Given the description of an element on the screen output the (x, y) to click on. 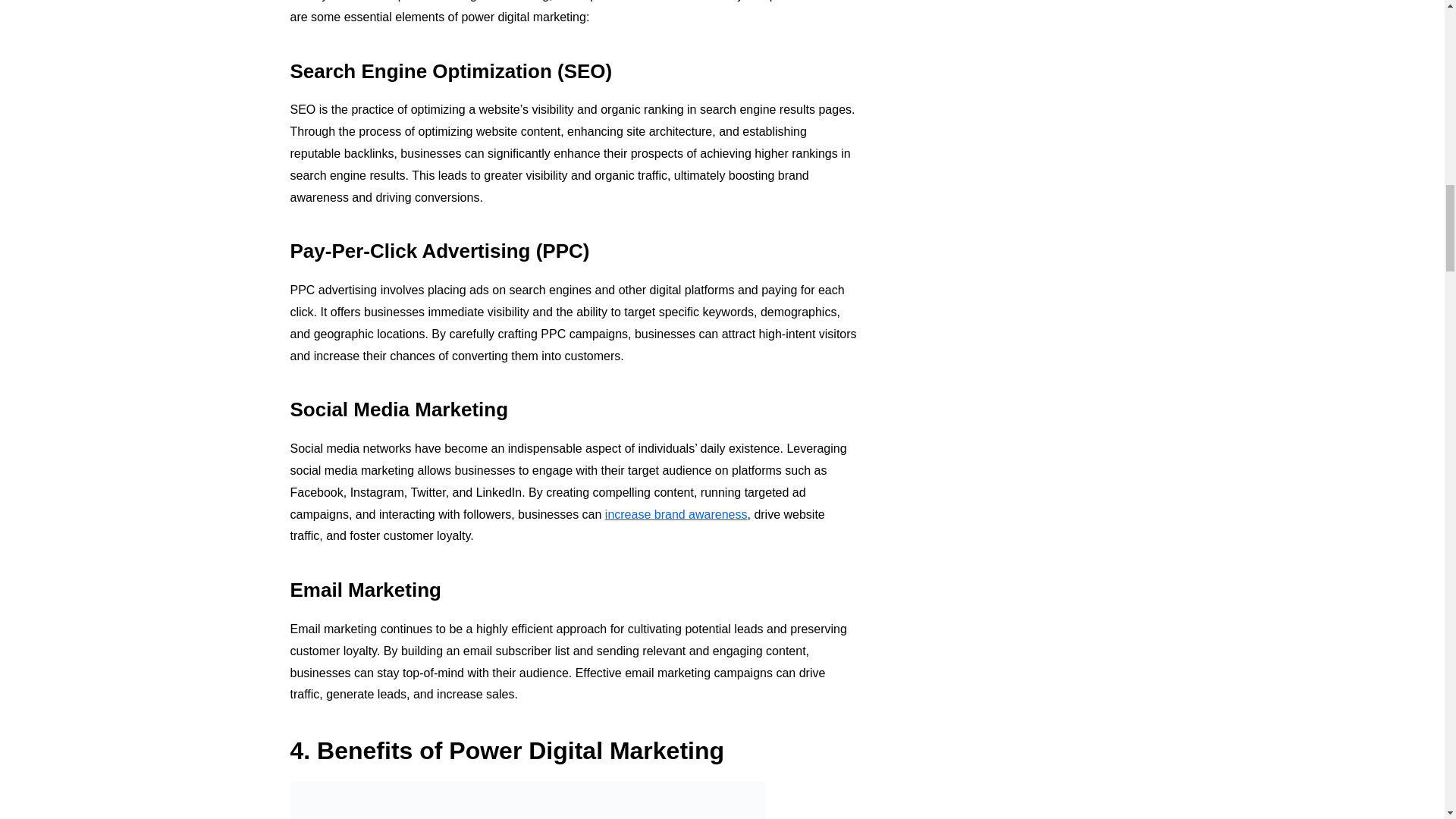
increase brand awareness (676, 513)
